Given the description of an element on the screen output the (x, y) to click on. 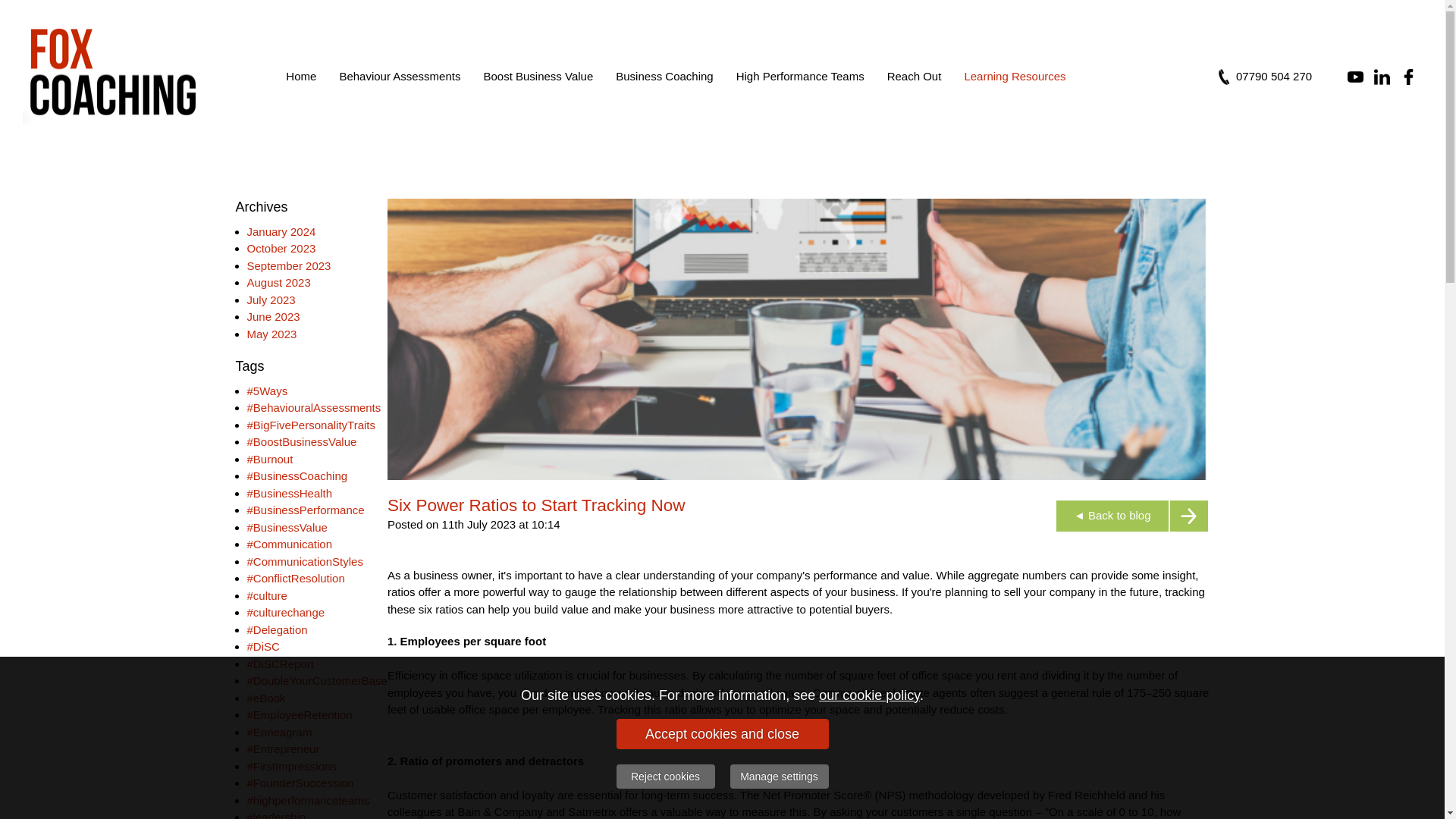
May 2023 (272, 333)
Boost Business Value (537, 76)
June 2023 (273, 316)
Business Coaching (663, 76)
Home (301, 76)
July 2023 (271, 298)
August 2023 (279, 282)
Learning Resources (1014, 76)
January 2024 (281, 230)
September 2023 (289, 265)
Reach Out (914, 76)
Behaviour Assessments (399, 76)
October 2023 (281, 247)
High Performance Teams (800, 76)
Back to blog (1131, 516)
